Given the description of an element on the screen output the (x, y) to click on. 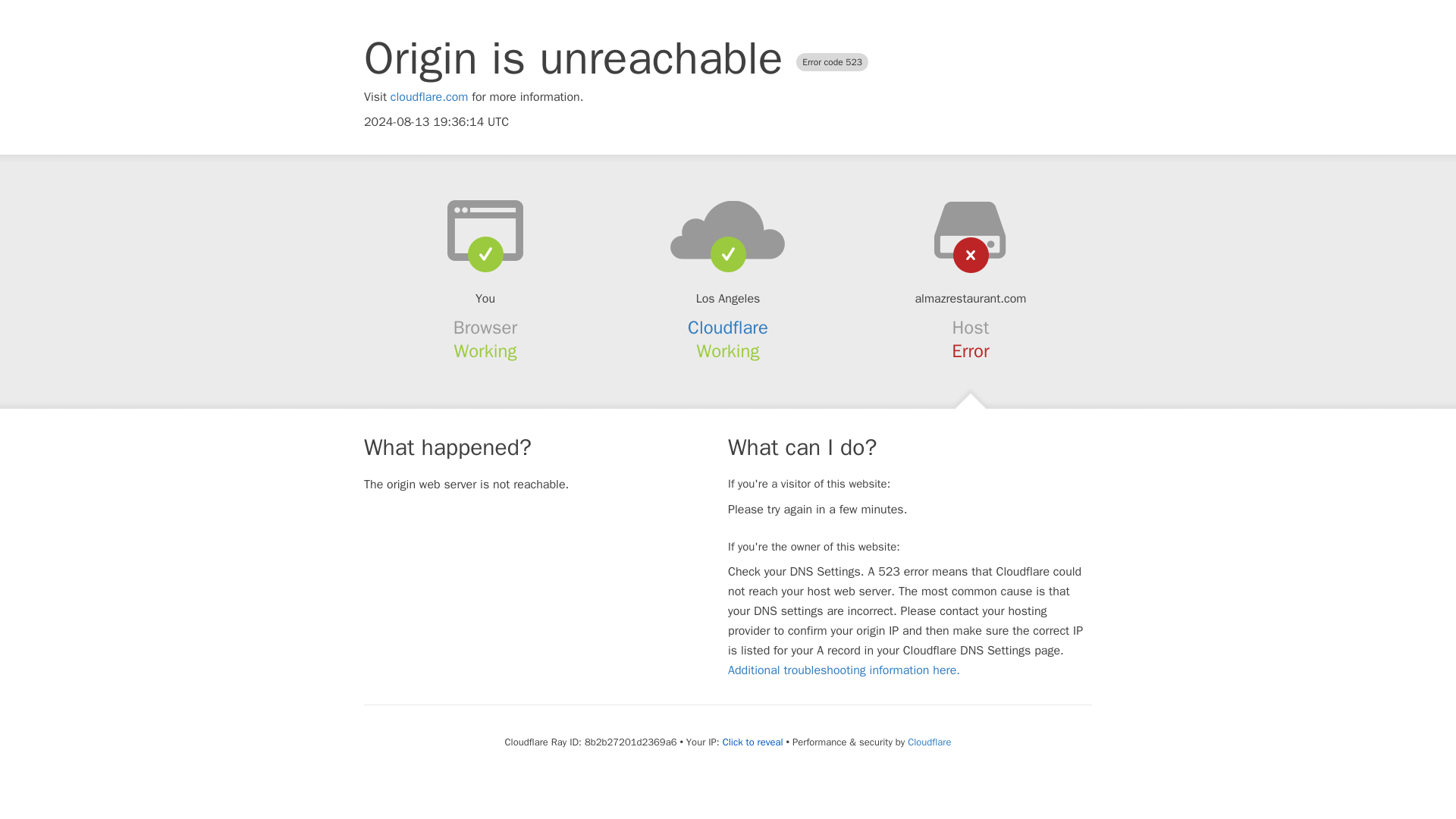
Additional troubleshooting information here. (843, 670)
Cloudflare (727, 327)
Cloudflare (928, 741)
cloudflare.com (429, 96)
Click to reveal (752, 742)
